Given the description of an element on the screen output the (x, y) to click on. 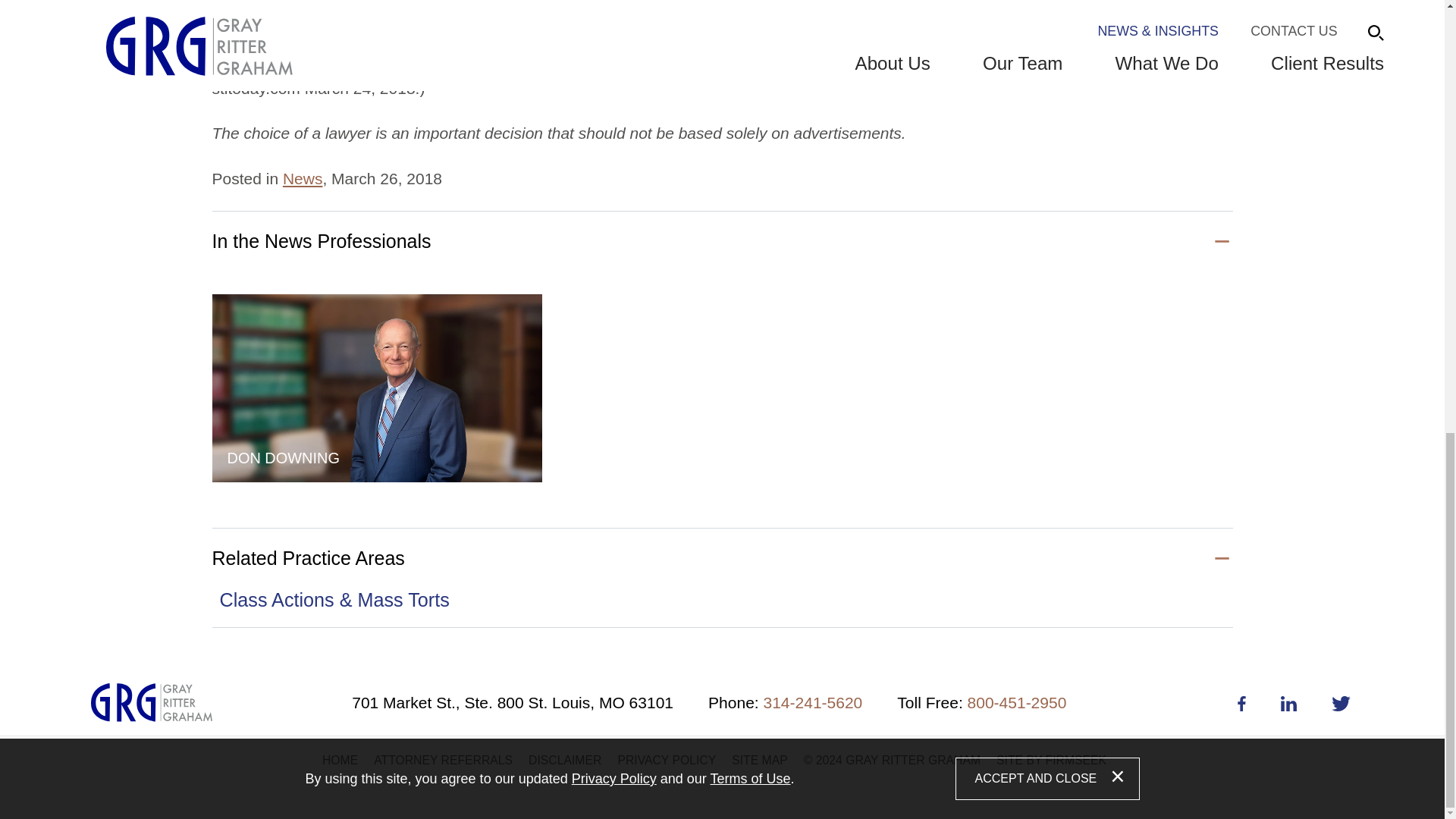
Gray Ritter Graham Footer Logo (151, 702)
Linkedin (1289, 703)
Twitter (1341, 703)
